Given the description of an element on the screen output the (x, y) to click on. 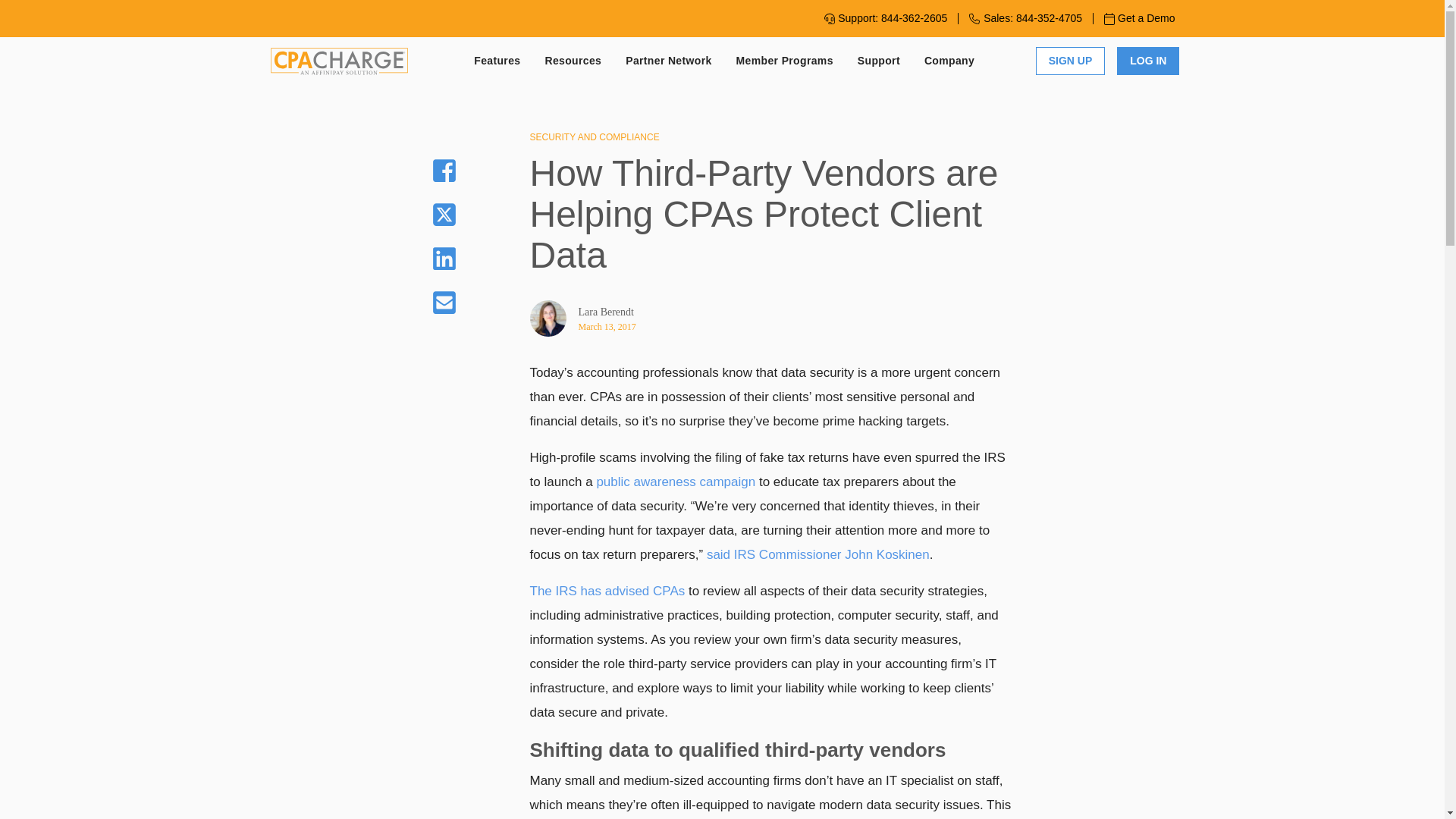
Member Programs (784, 60)
 Get a Demo (1139, 18)
 Support: 844-362-2605 (885, 18)
 Sales: 844-352-4705 (1024, 18)
